Given the description of an element on the screen output the (x, y) to click on. 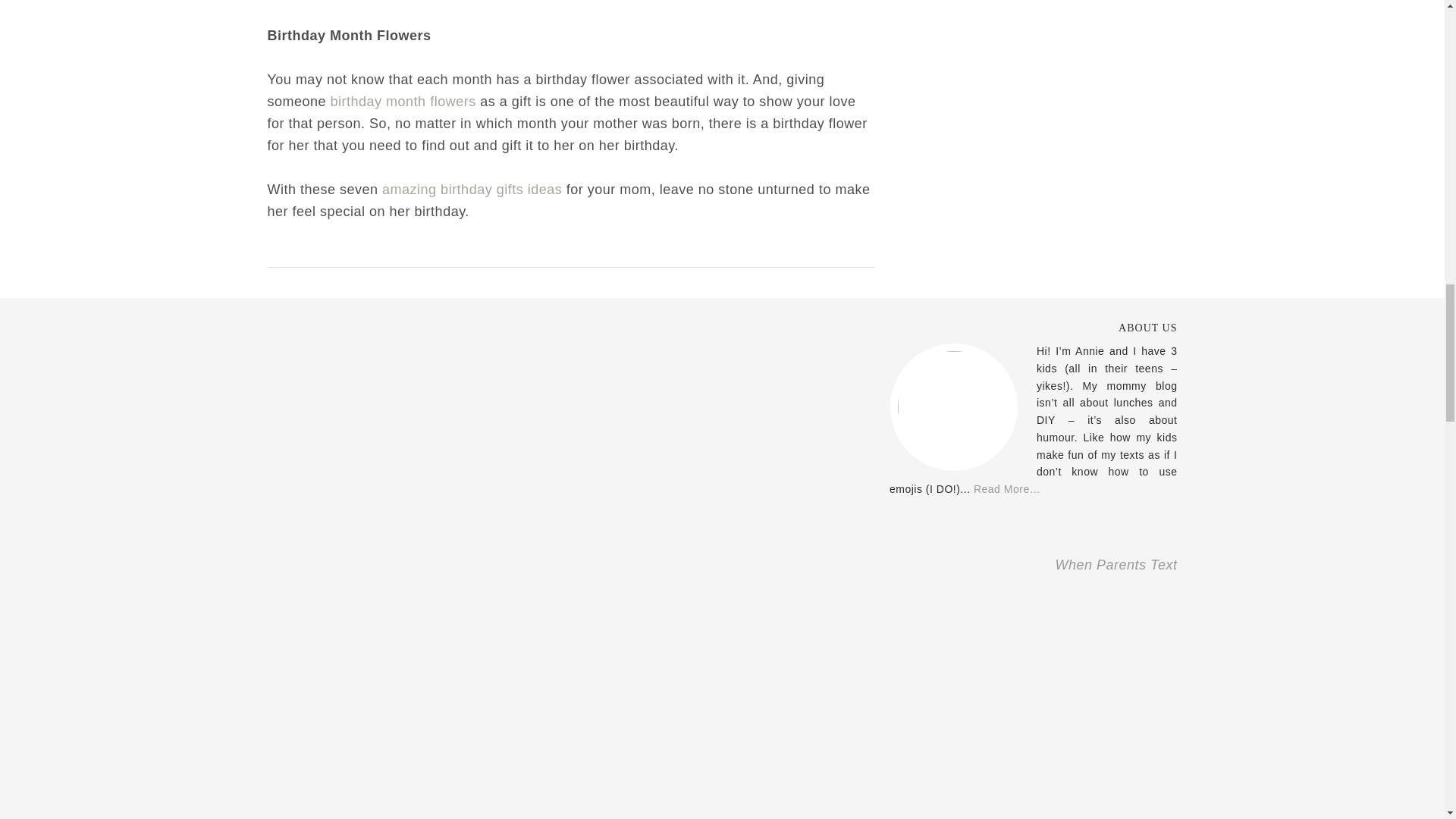
birthday month flowers (403, 101)
amazing birthday gifts ideas (471, 189)
